Given the description of an element on the screen output the (x, y) to click on. 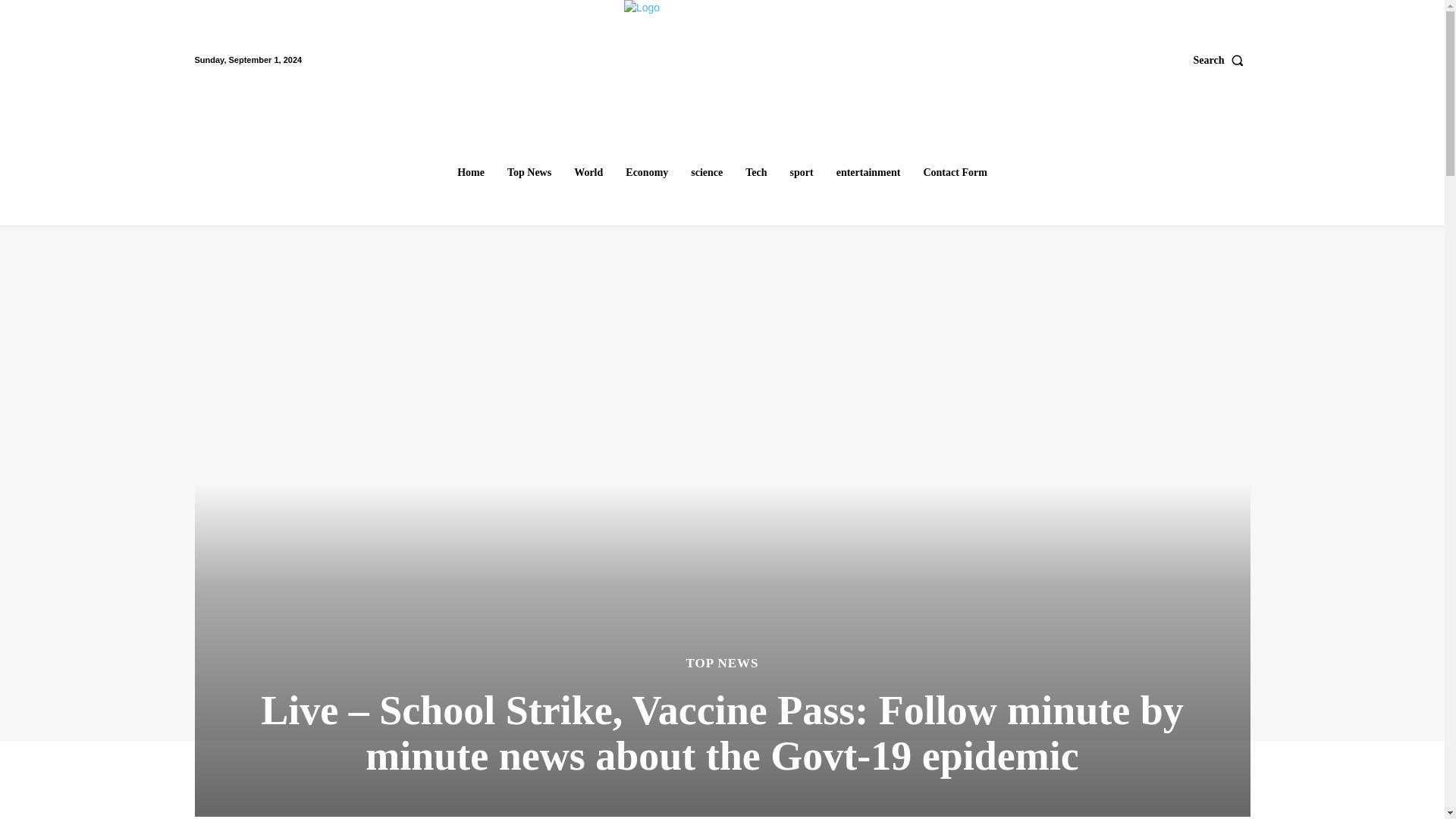
Tech (756, 173)
sport (802, 173)
World (588, 173)
entertainment (868, 173)
Economy (646, 173)
Contact Form (954, 173)
Top News (529, 173)
science (706, 173)
Home (470, 173)
Search (1221, 60)
